Given the description of an element on the screen output the (x, y) to click on. 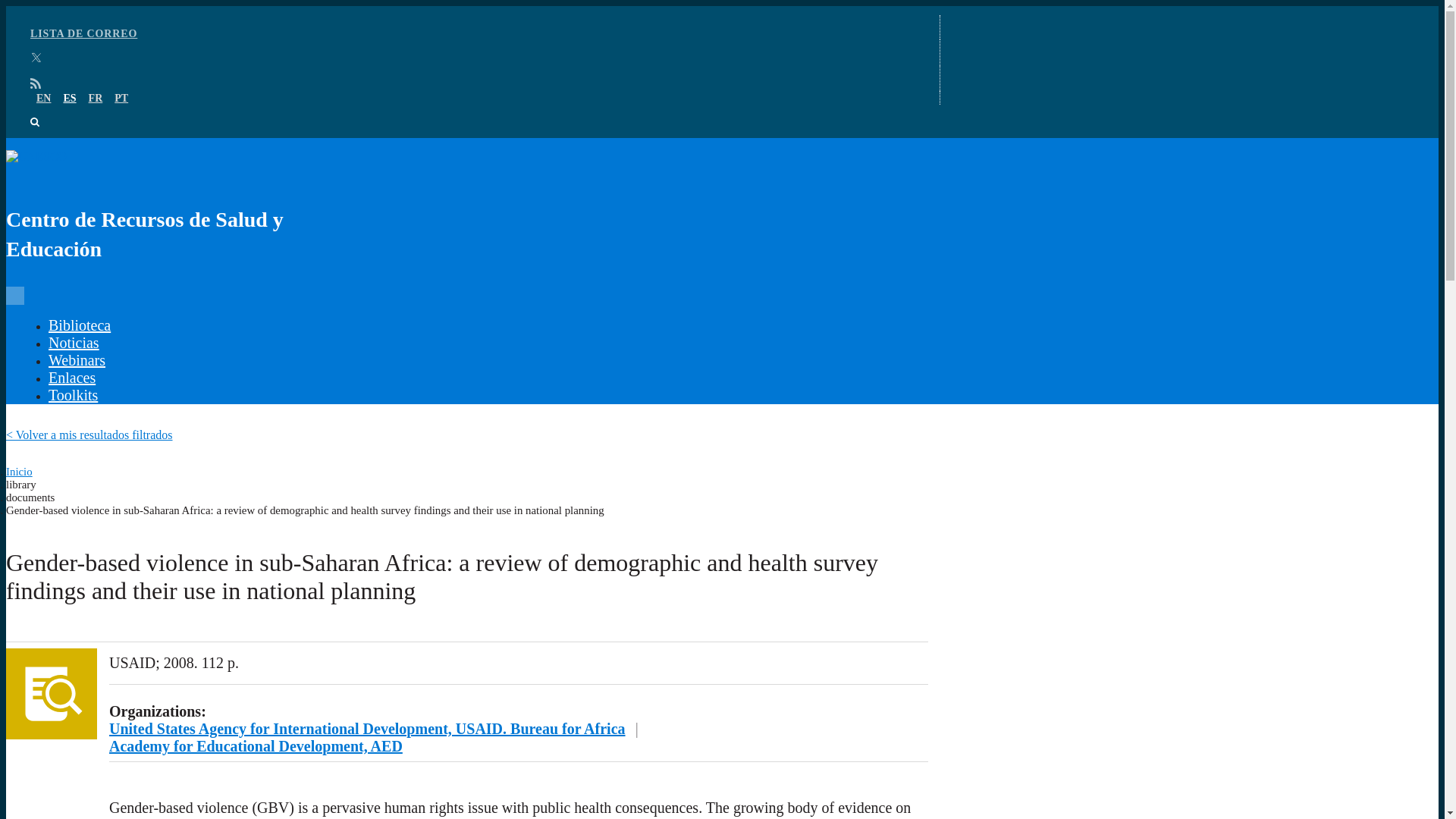
LISTA DE CORREO (83, 33)
FR (95, 98)
Enlaces (72, 377)
Academy for Educational Development, AED (256, 745)
ES (68, 98)
Noticias (73, 342)
PT (121, 98)
Toolkits (72, 394)
Pasar al contenido principal (722, 7)
EN (43, 98)
Inicio (18, 471)
Webinars (76, 360)
Biblioteca (79, 324)
